Given the description of an element on the screen output the (x, y) to click on. 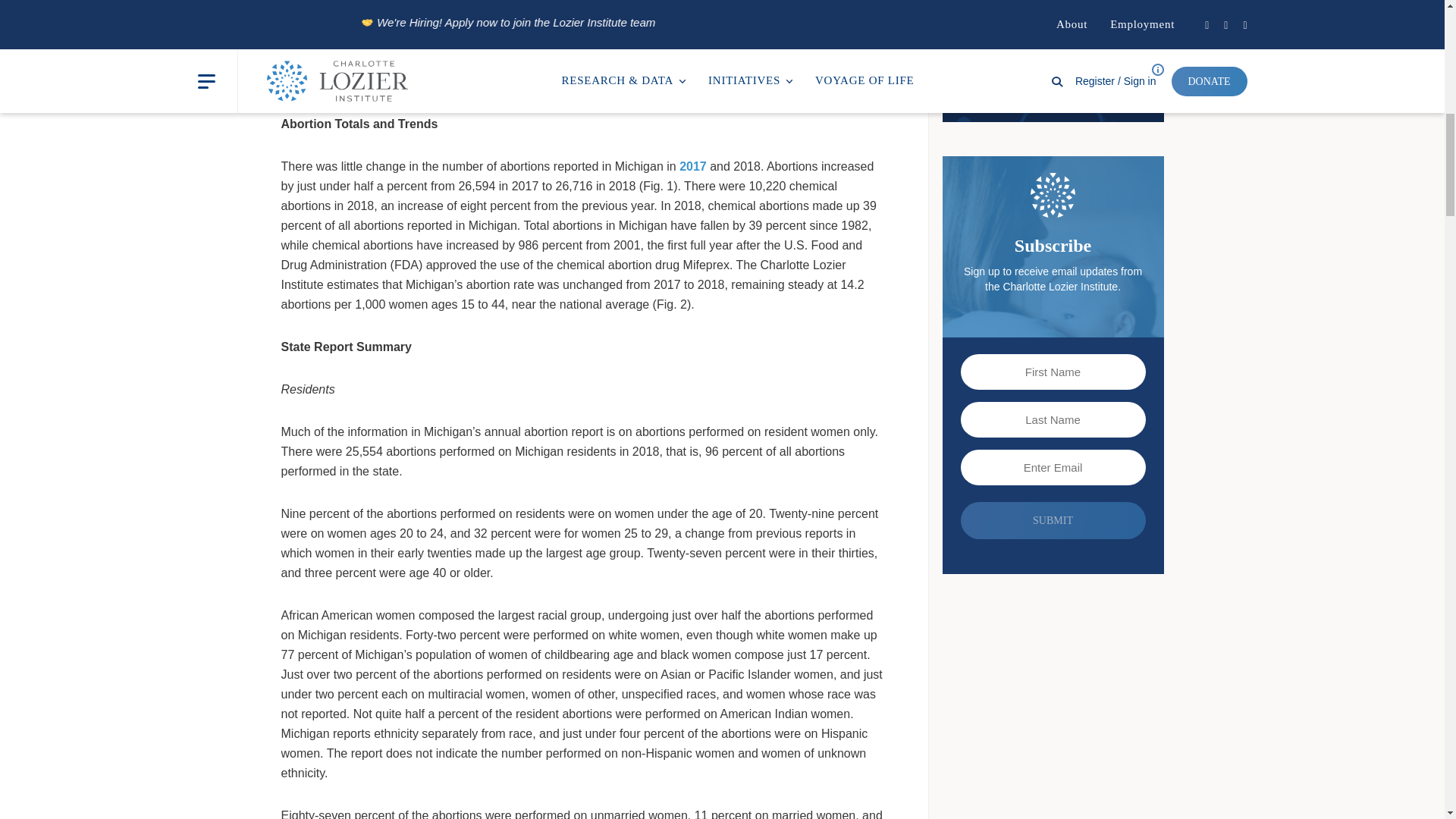
Submit (1052, 520)
